Given the description of an element on the screen output the (x, y) to click on. 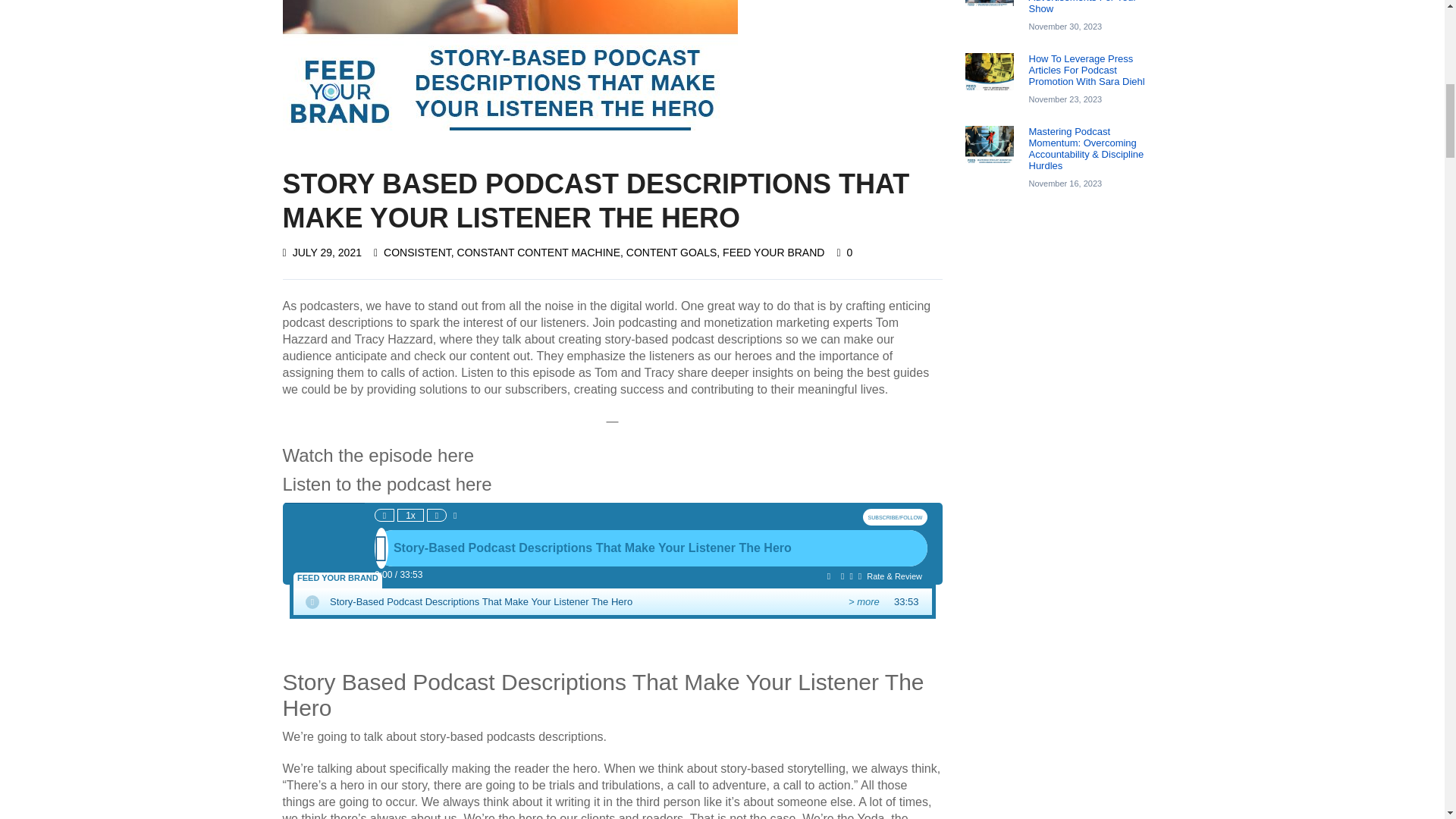
View all posts in Feed Your Brand (773, 252)
View all posts in Content Goals (671, 252)
View all posts in Consistent, Constant Content Machine (502, 252)
